Given the description of an element on the screen output the (x, y) to click on. 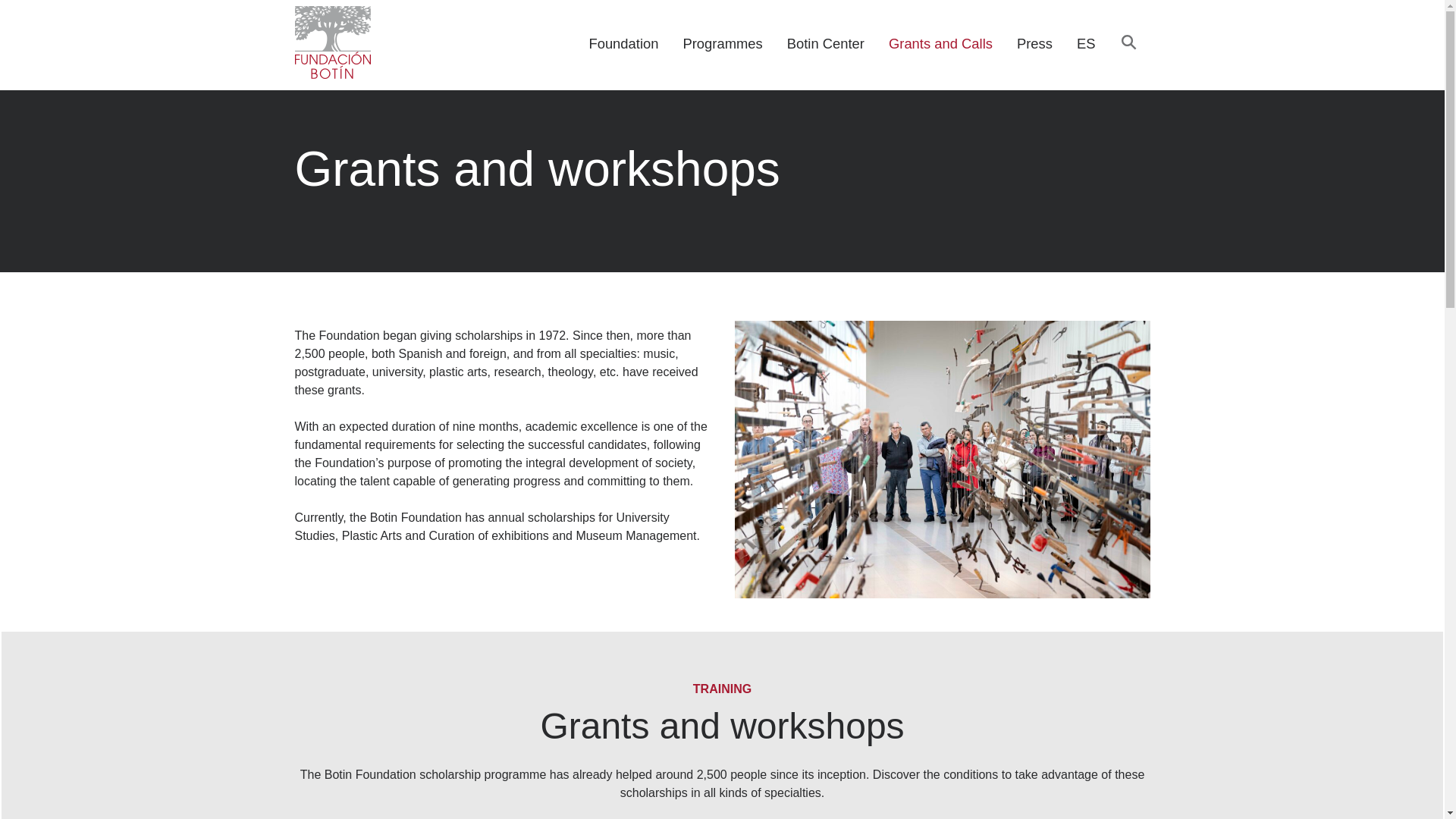
Foundation (622, 43)
ES (1086, 43)
Programmes (721, 43)
